Given the description of an element on the screen output the (x, y) to click on. 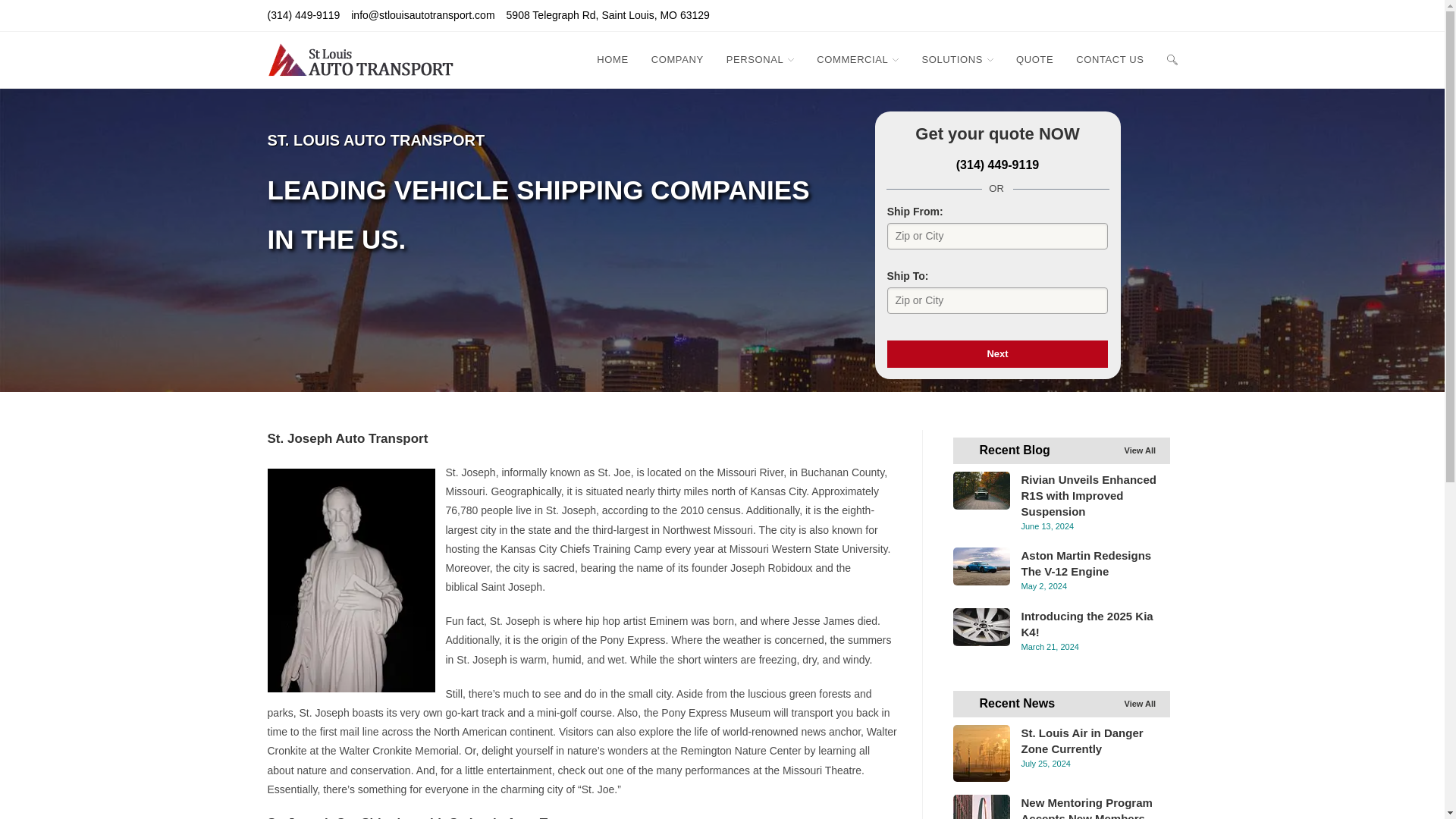
COMMERCIAL (857, 59)
St. Louis Air in Danger Zone Currently (980, 753)
PERSONAL (760, 59)
Enter a location (997, 300)
Aston Martin Redesigns The V-12 Engine (980, 566)
New Mentoring Program Accepts New Members (980, 806)
SOLUTIONS (957, 59)
QUOTE (1034, 59)
CONTACT US (1109, 59)
Introducing the 2025 Kia K4! (980, 627)
HOME (612, 59)
5908 Telegraph Rd, Saint Louis, MO 63129 (608, 15)
COMPANY (677, 59)
Rivian Unveils Enhanced R1S with Improved Suspension (980, 490)
Enter a location (997, 235)
